Given the description of an element on the screen output the (x, y) to click on. 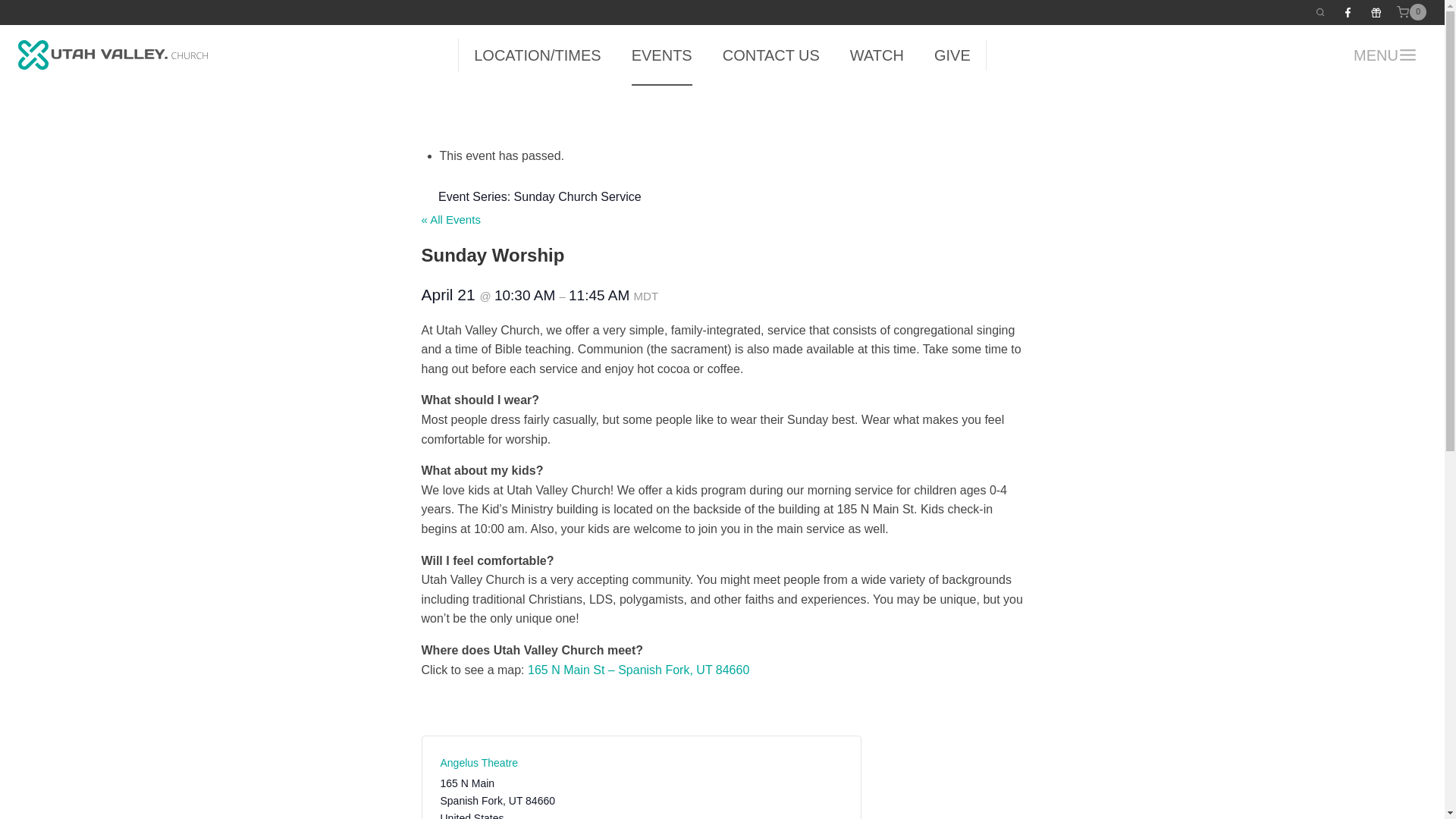
MENU (1384, 54)
Sunday Church Service (577, 196)
Angelus Theatre (477, 762)
EVENTS (661, 54)
CONTACT US (770, 54)
0 (1411, 12)
Event Series (427, 195)
Angelus Theatre (477, 762)
WATCH (876, 54)
Utah (515, 800)
GIVE (951, 54)
